Given the description of an element on the screen output the (x, y) to click on. 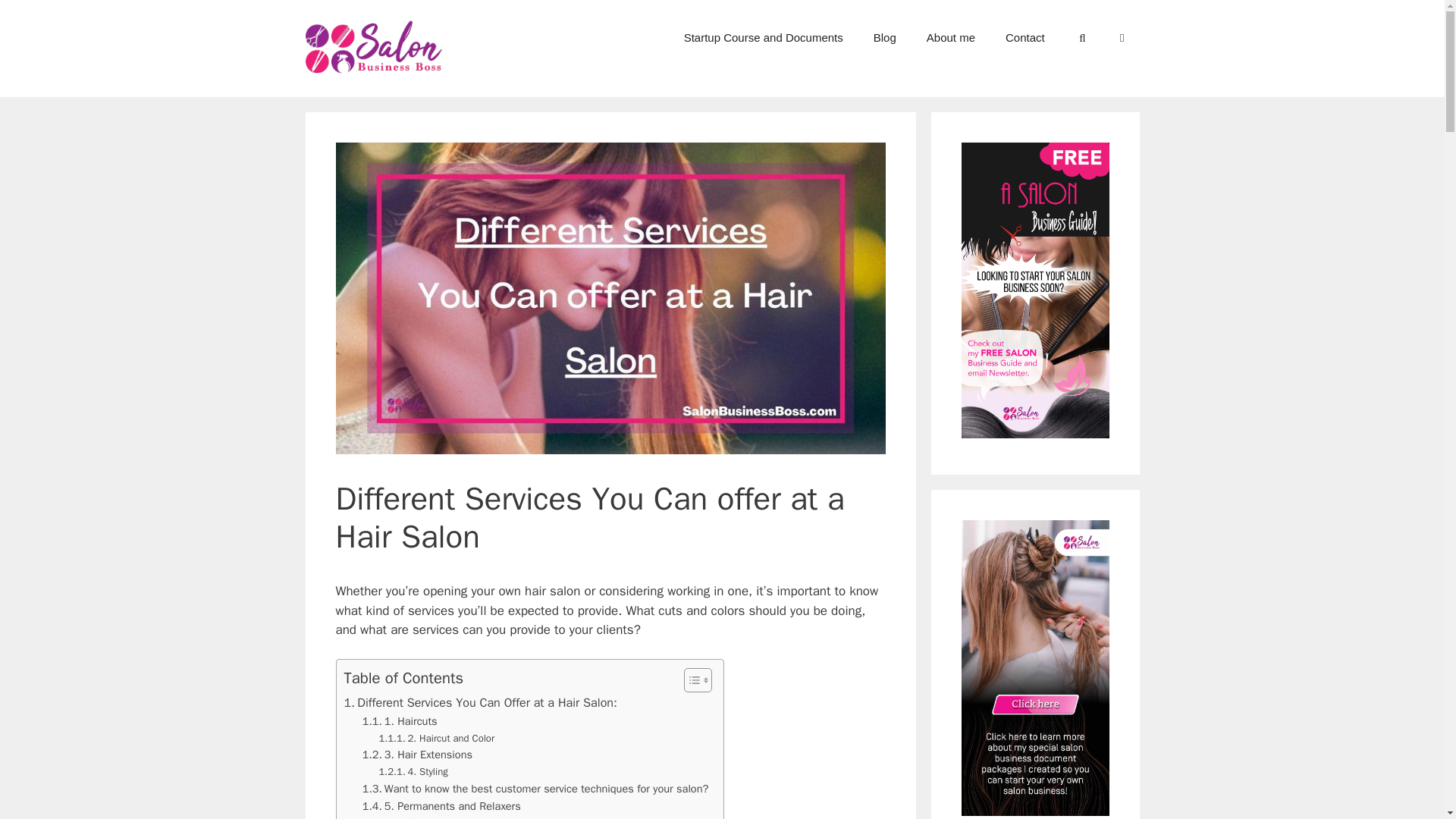
4. Styling (413, 772)
1. Haircuts (400, 721)
6. Blowouts (419, 816)
Different Services You Can Offer at a Hair Salon: (480, 702)
About me (950, 37)
5. Permanents and Relaxers (441, 805)
Blog (885, 37)
Contact (1024, 37)
2. Haircut and Color (436, 738)
Startup Course and Documents (763, 37)
3. Hair Extensions (416, 754)
6. Blowouts (419, 816)
Different Services You Can Offer at a Hair Salon: (480, 702)
3. Hair Extensions (416, 754)
